Given the description of an element on the screen output the (x, y) to click on. 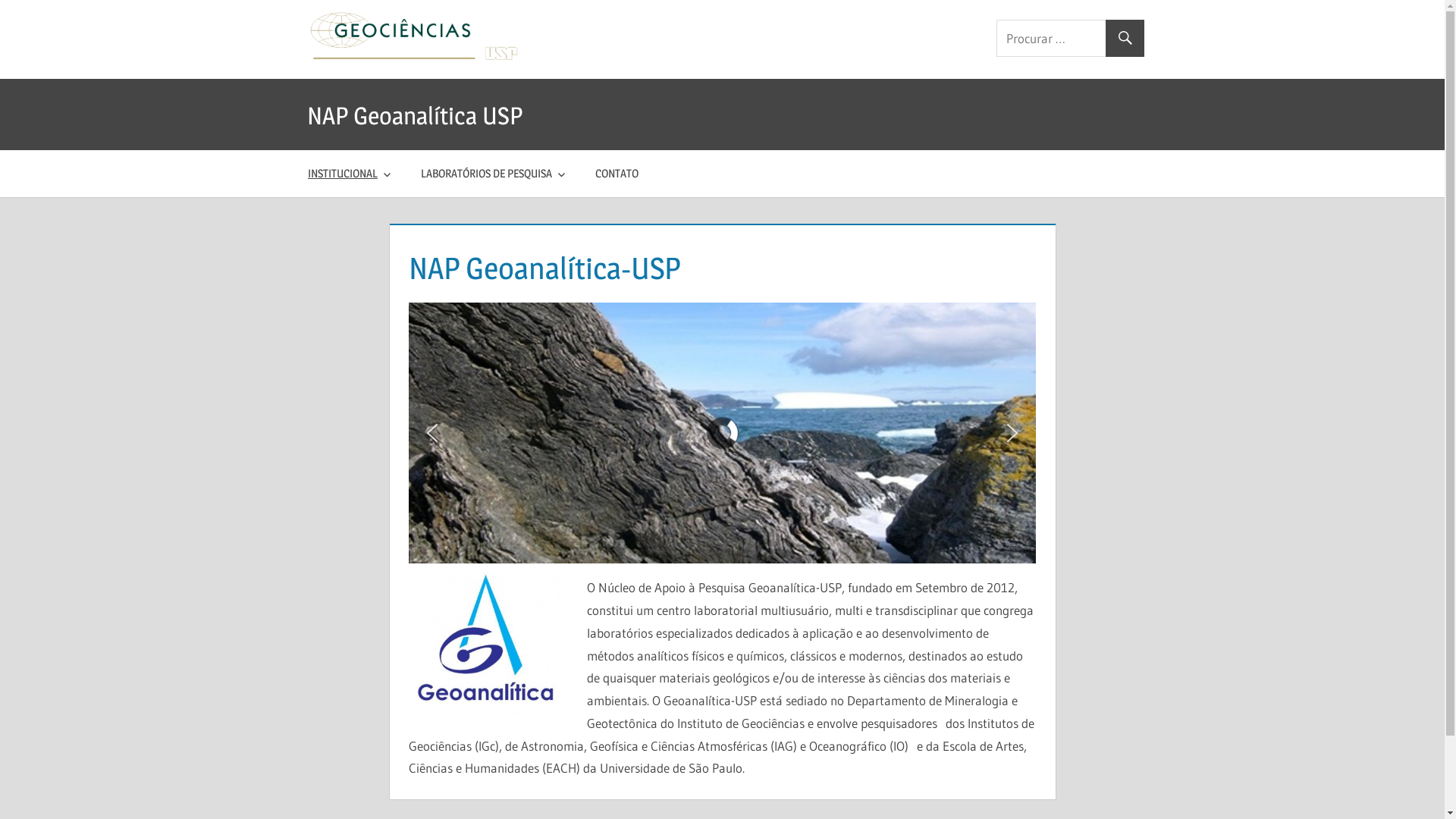
Search for: Element type: hover (1069, 37)
CONTATO Element type: text (616, 173)
INSTITUCIONAL Element type: text (350, 173)
